Given the description of an element on the screen output the (x, y) to click on. 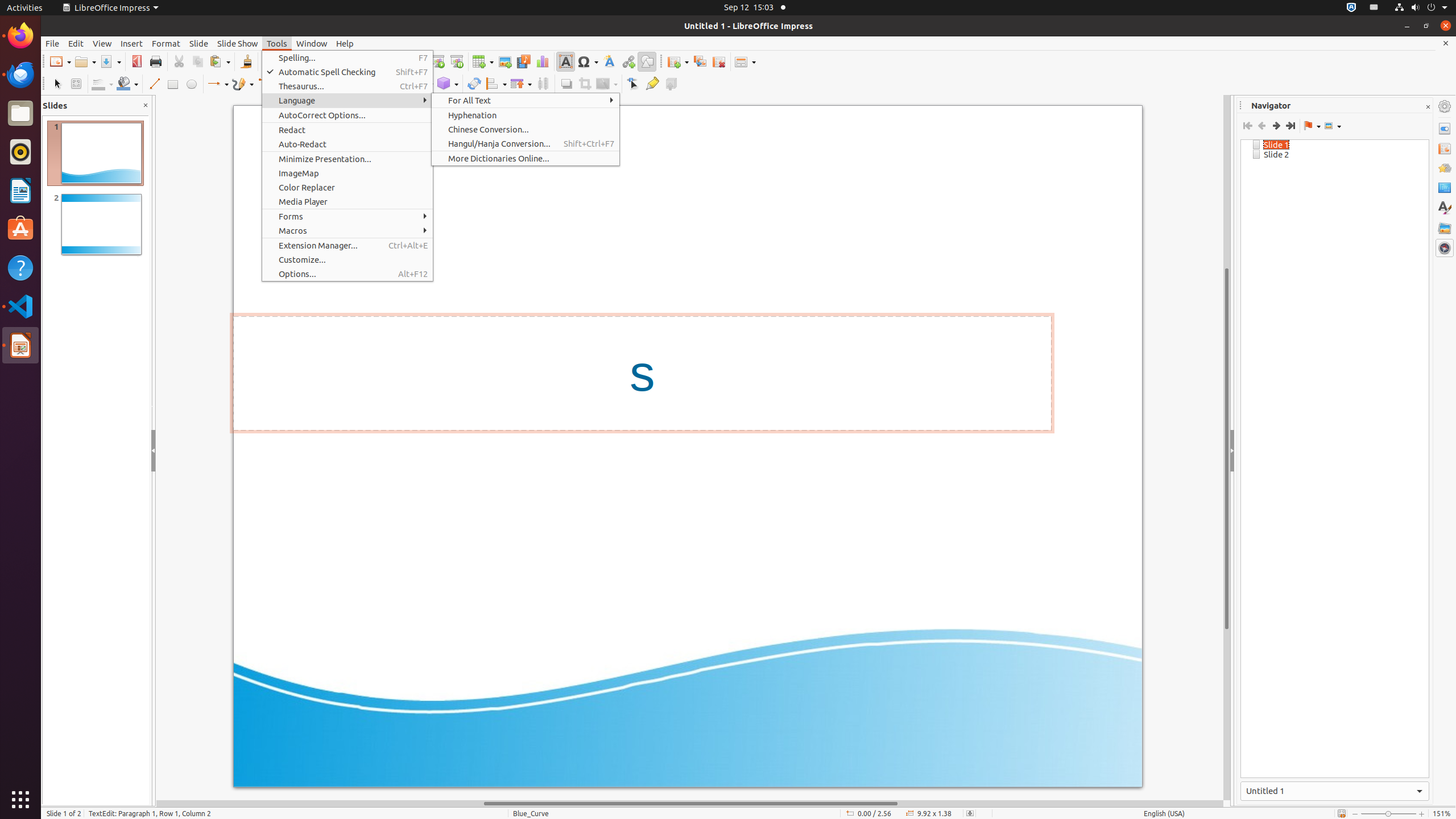
Options... Element type: menu-item (347, 273)
Hangul/Hanja Conversion... Element type: menu-item (525, 143)
Media Player Element type: check-menu-item (347, 201)
Navigator Element type: radio-button (1444, 247)
Active Window Element type: combo-box (1334, 790)
